Given the description of an element on the screen output the (x, y) to click on. 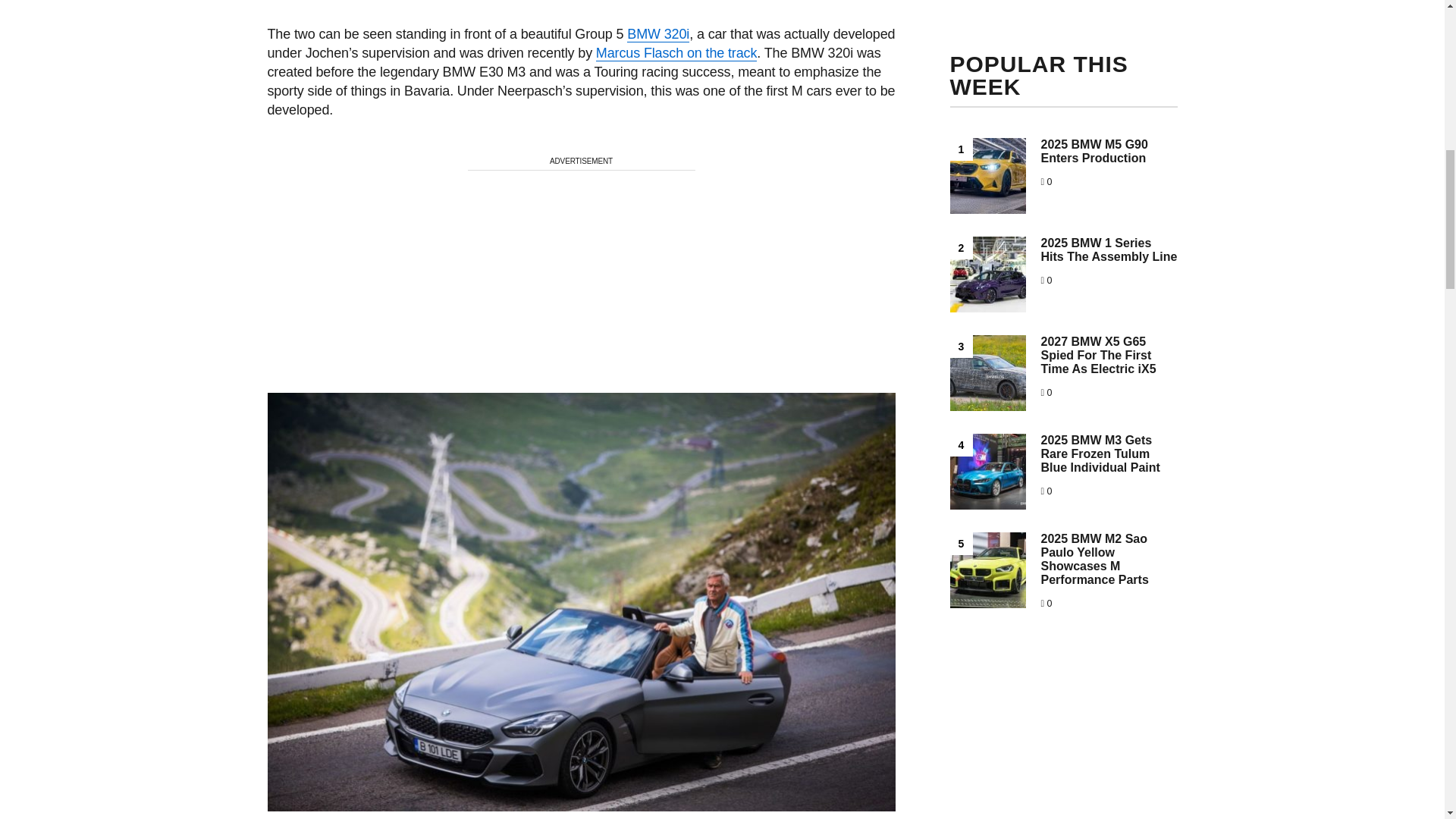
2025 BMW 1 Series Hits The Assembly Line (1108, 249)
2025 BMW M5 G90 Enters Production (1094, 151)
